Given the description of an element on the screen output the (x, y) to click on. 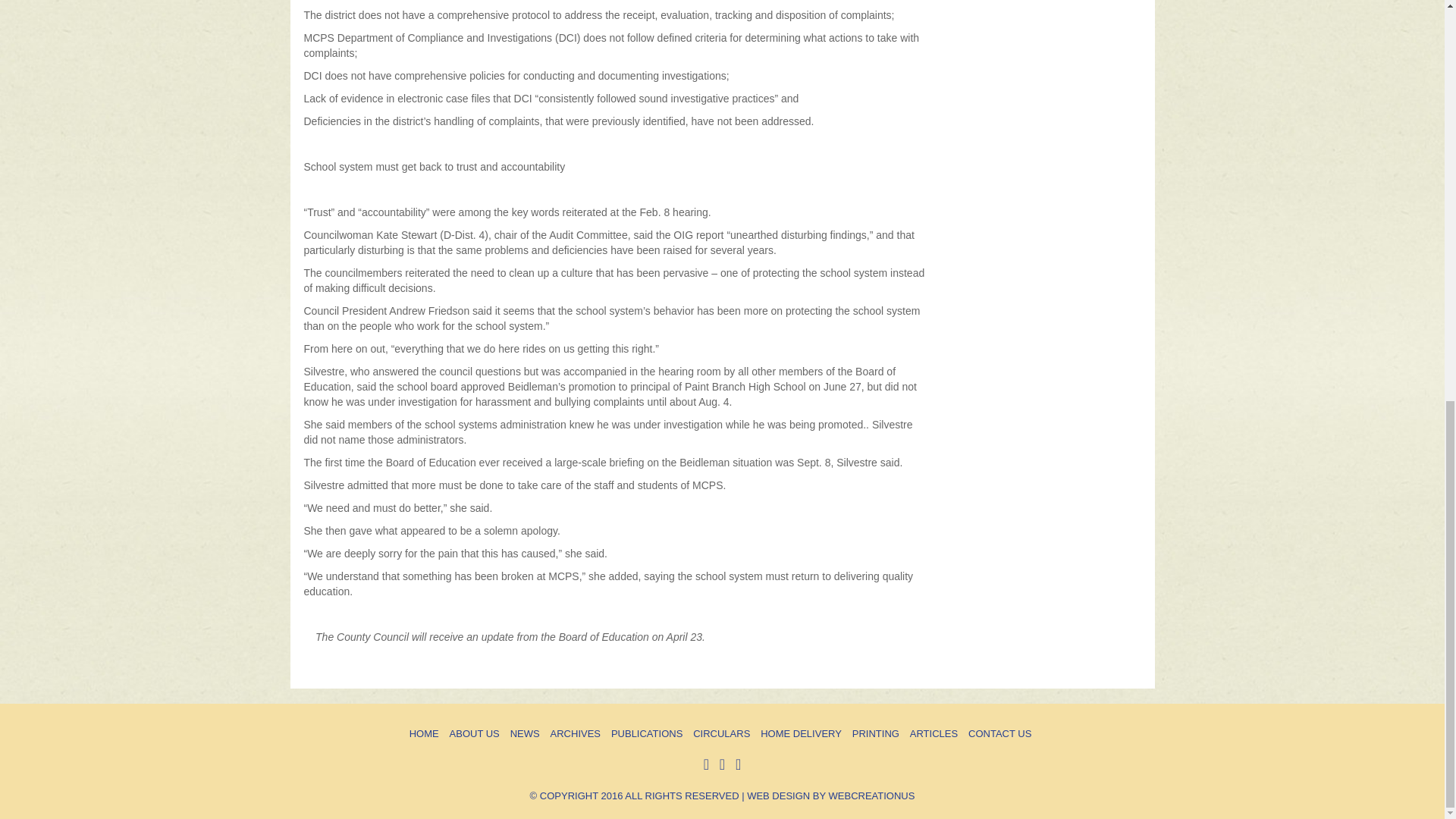
HOME (424, 733)
Contact Us (999, 733)
Publications (646, 733)
CONTACT US (999, 733)
PRINTING (875, 733)
Articles (934, 733)
Home Delivery (800, 733)
News (525, 733)
NEWS (525, 733)
HOME (424, 733)
Archives (574, 733)
ARTICLES (934, 733)
ABOUT US (474, 733)
PUBLICATIONS (646, 733)
About Us (474, 733)
